Given the description of an element on the screen output the (x, y) to click on. 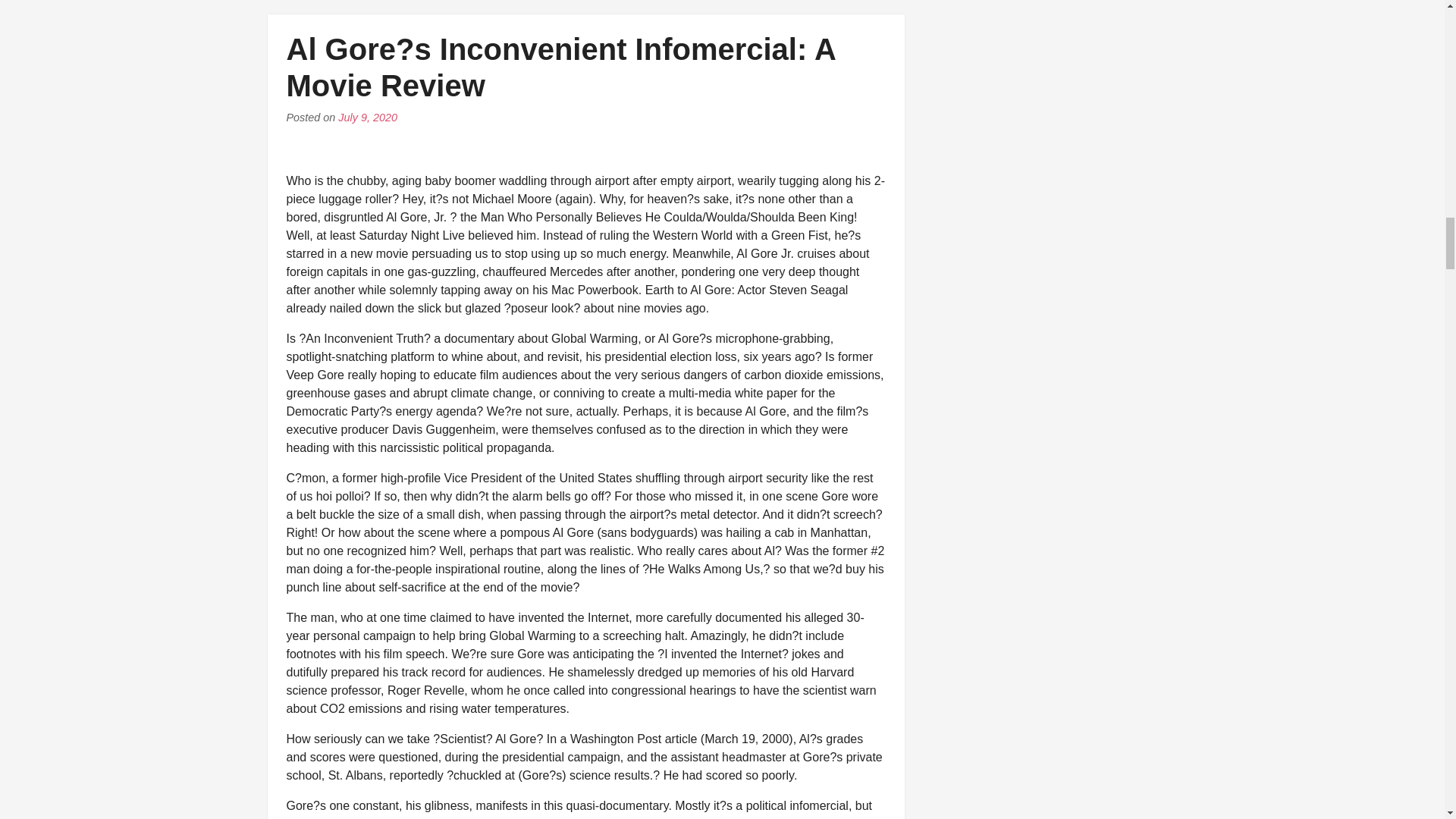
Al Gore?s Inconvenient Infomercial: A Movie Review (560, 67)
July 9, 2020 (367, 117)
